Given the description of an element on the screen output the (x, y) to click on. 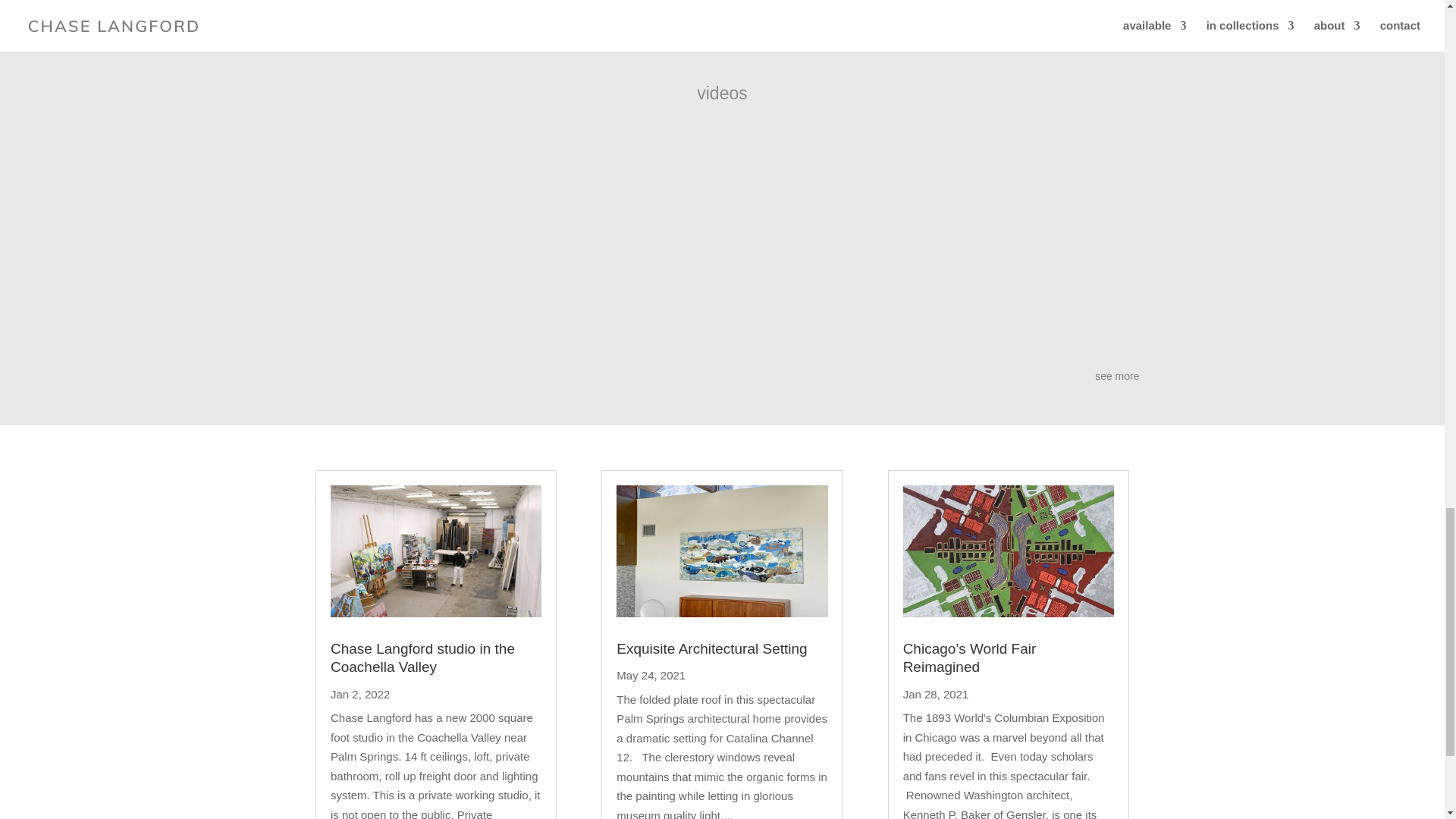
ABSTRACT ARTIST : CHASE LANGFORD : MORPHIC RESONANCE (516, 248)
Follow on Instagram (733, 7)
Follow on Youtube (703, 7)
Follow on Facebook (673, 7)
